Given the description of an element on the screen output the (x, y) to click on. 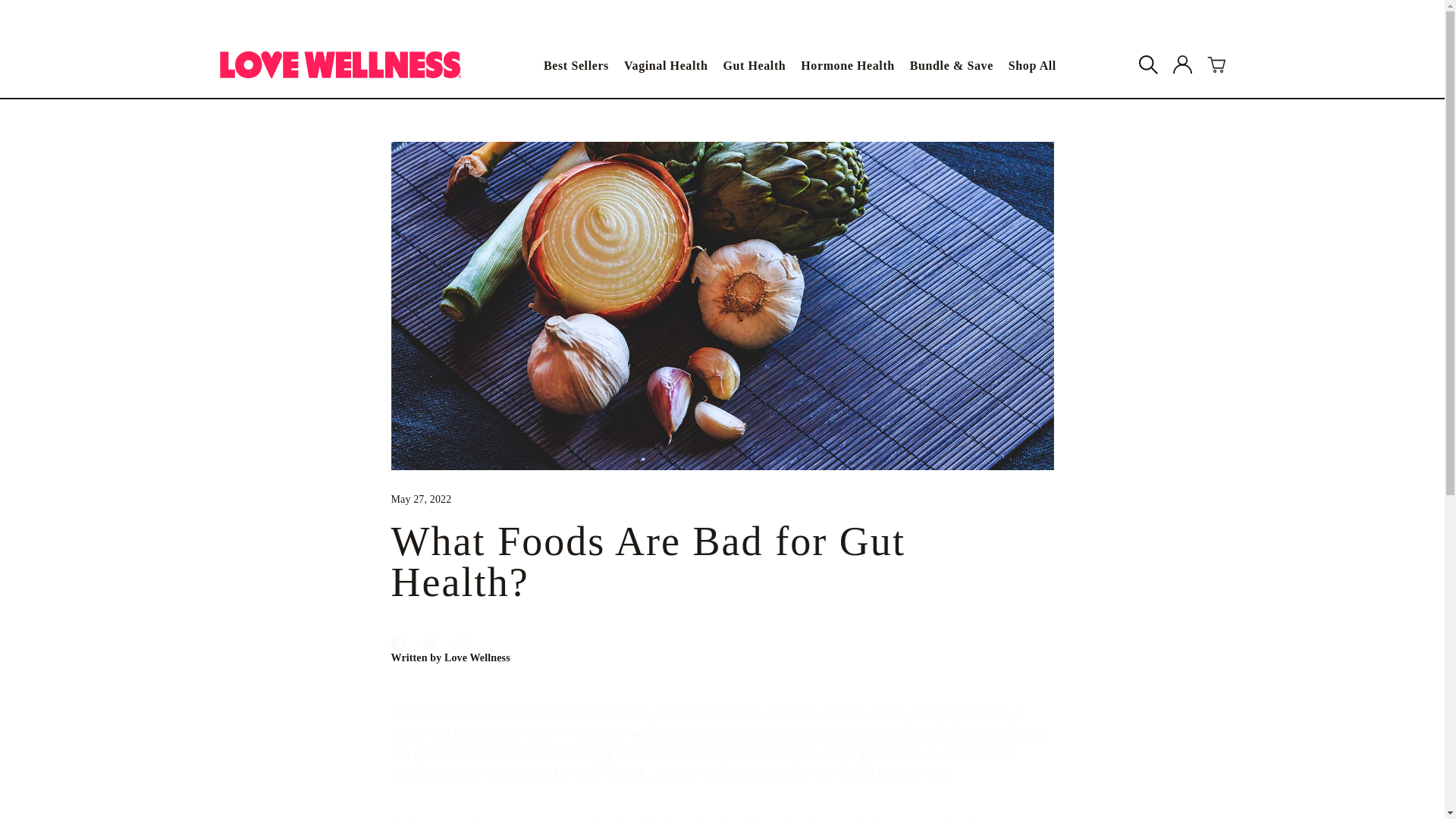
Best Sellers (575, 64)
Cart (1216, 64)
Gut Health (754, 64)
Account (722, 643)
Hormone Health (722, 545)
Written by Love Wellness (1181, 64)
Skip to content (847, 64)
Shop All (722, 658)
